Given the description of an element on the screen output the (x, y) to click on. 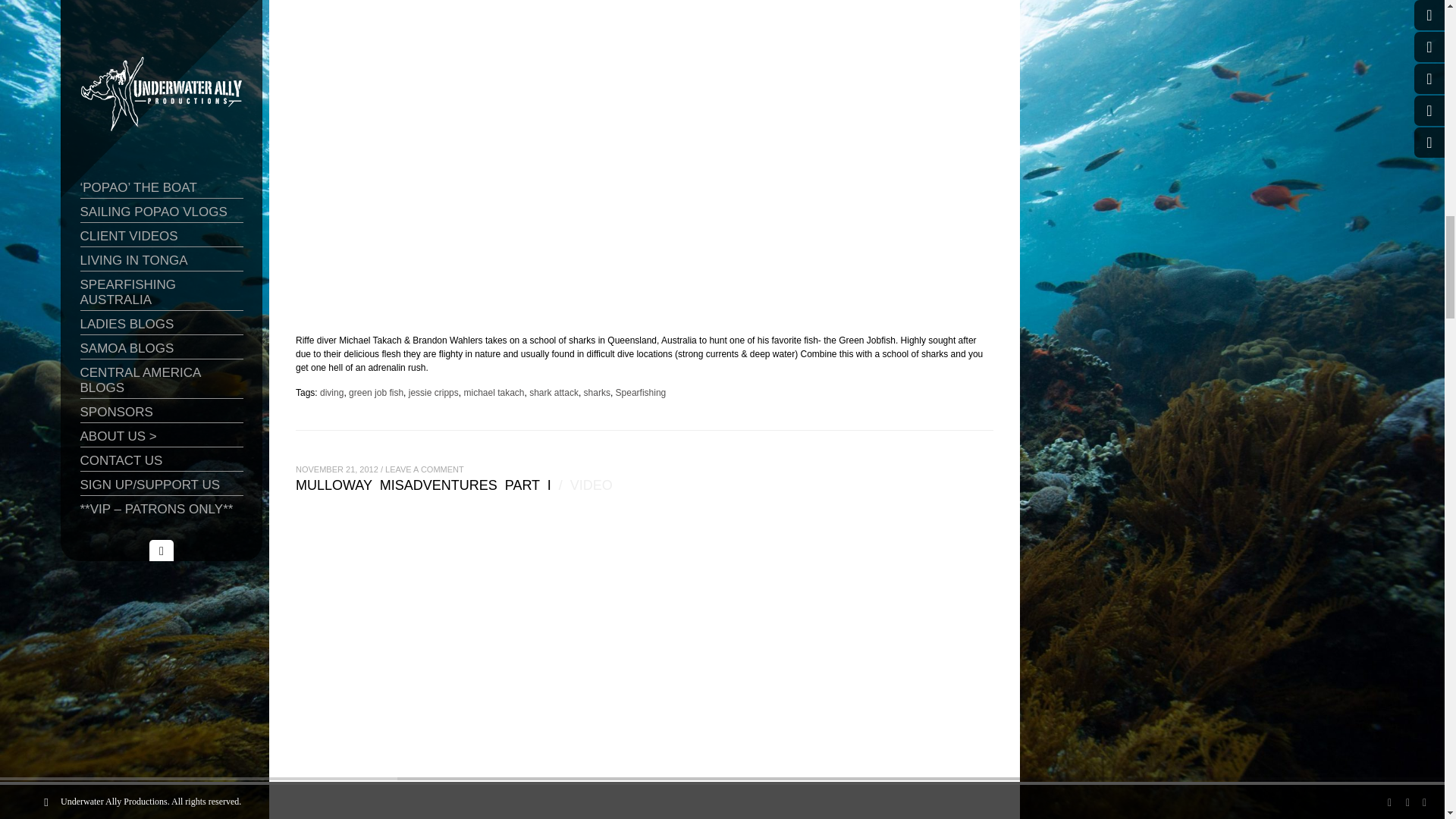
Mulloway Misadventures Part I (423, 487)
